Given the description of an element on the screen output the (x, y) to click on. 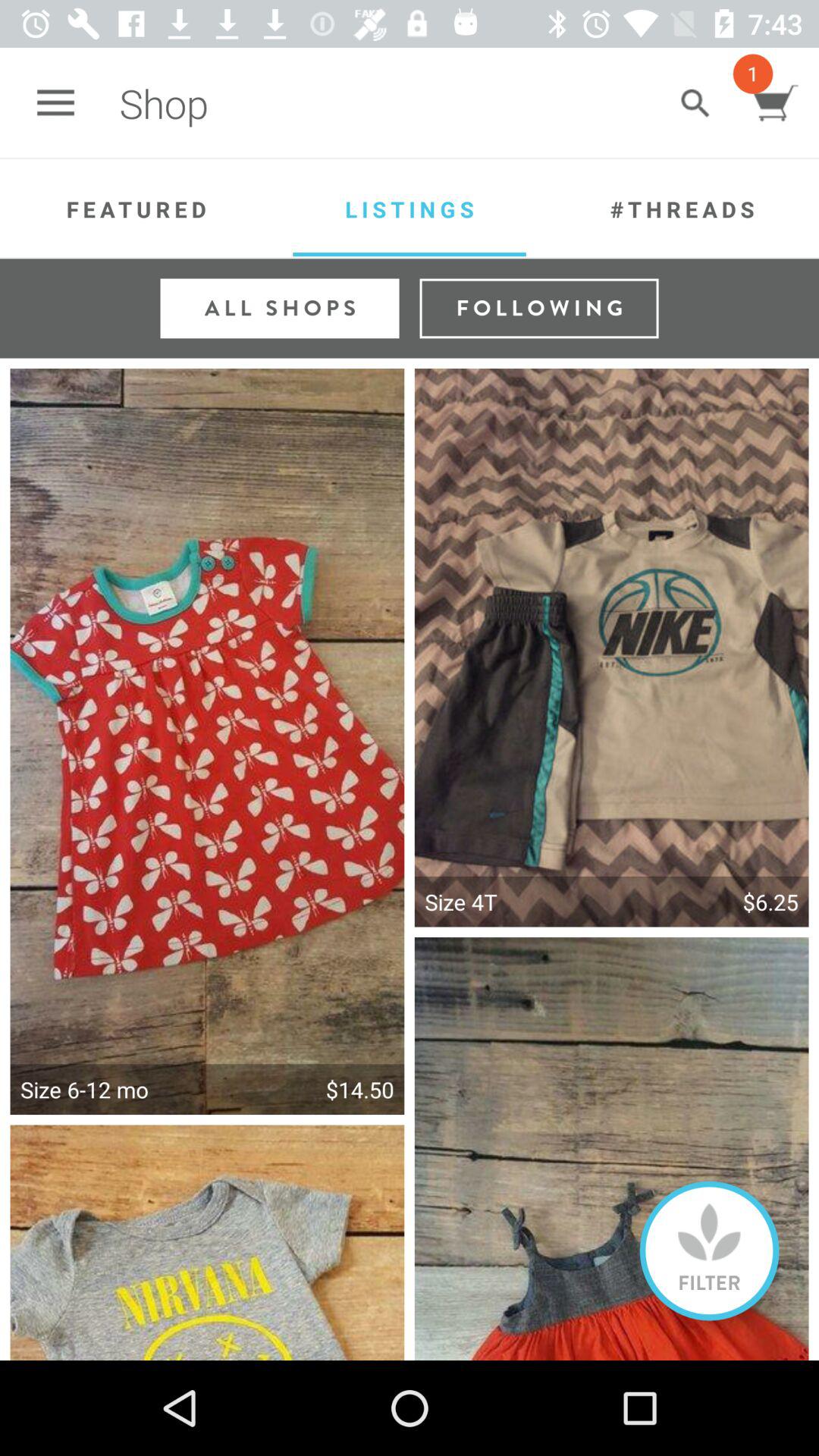
click to filter (709, 1250)
